Given the description of an element on the screen output the (x, y) to click on. 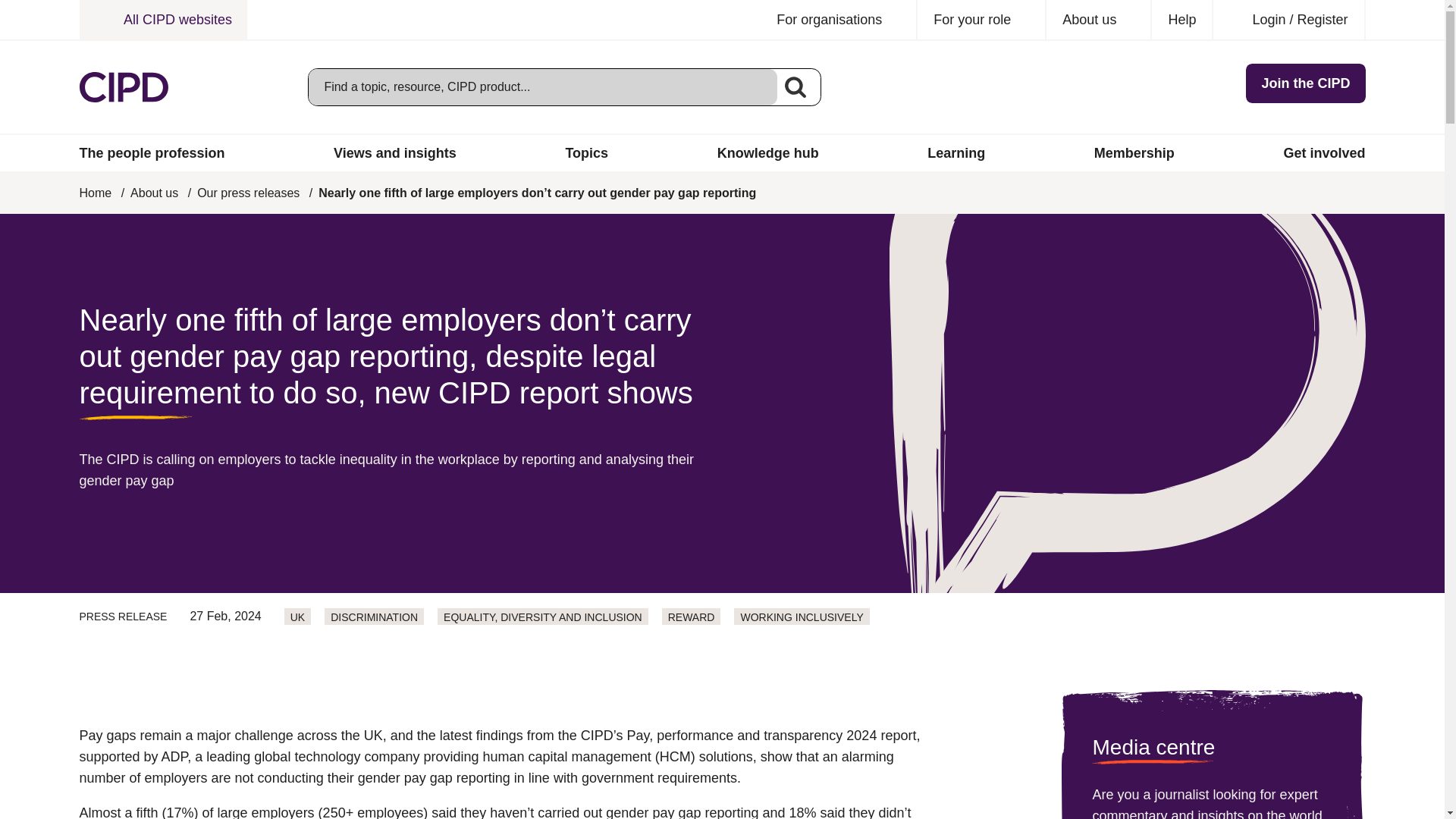
For organisations (838, 19)
Search (795, 86)
For your role (981, 19)
Help (1181, 19)
All CIPD websites (162, 19)
About us (1098, 19)
CIPD (123, 87)
Search (795, 86)
